Given the description of an element on the screen output the (x, y) to click on. 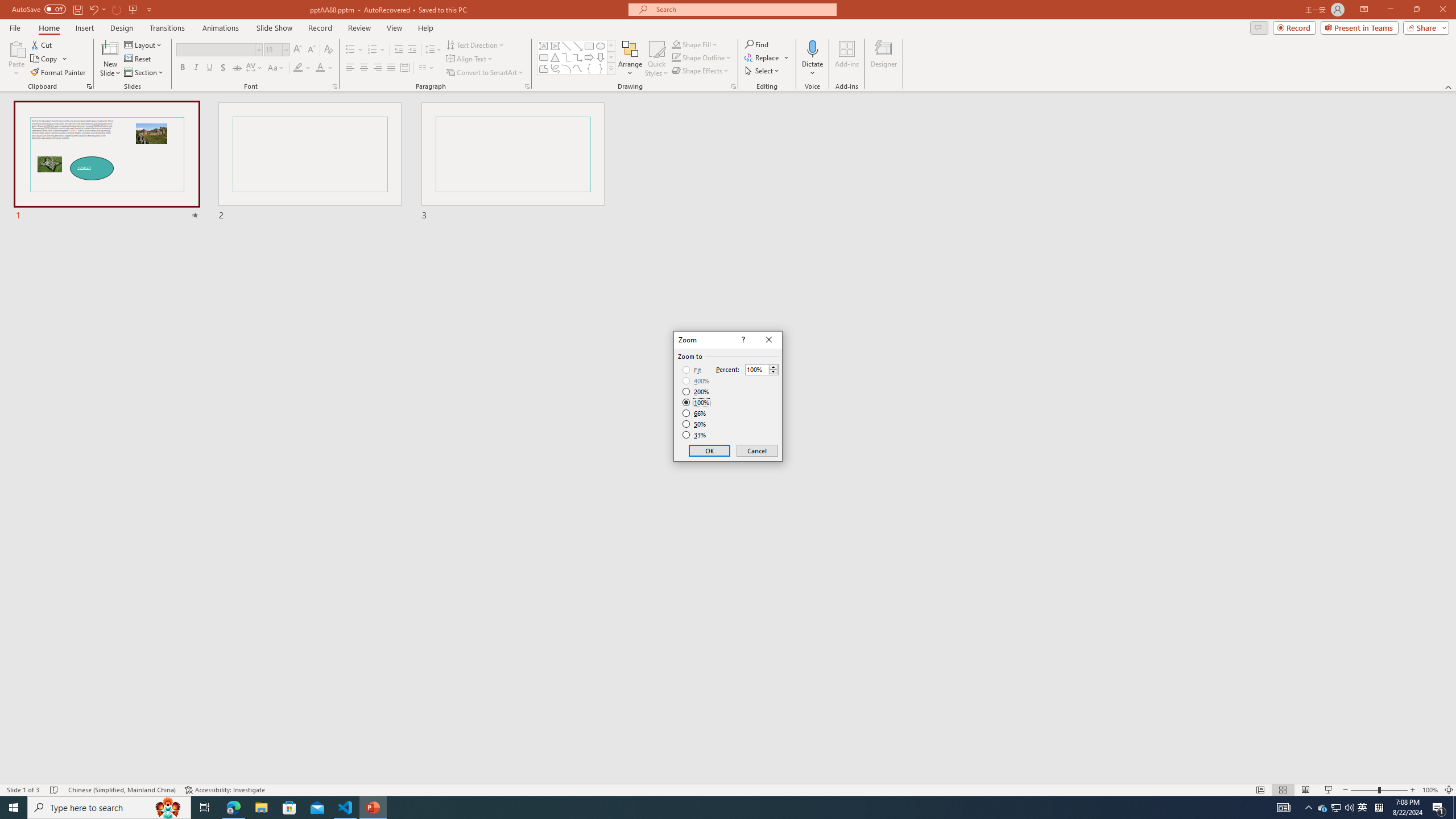
Shape Fill Aqua, Accent 2 (675, 44)
